Given the description of an element on the screen output the (x, y) to click on. 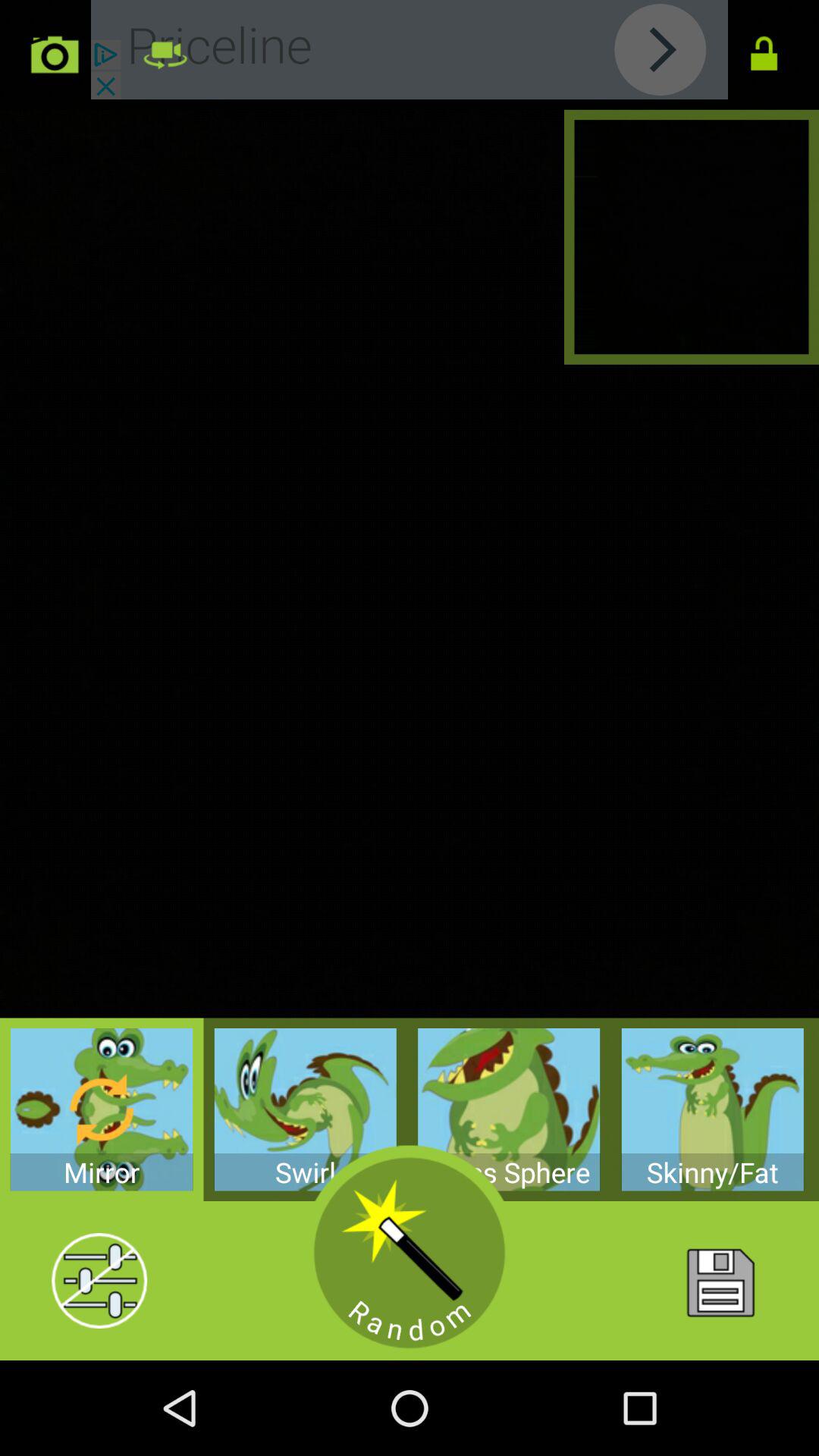
learn about priceline (409, 49)
